Given the description of an element on the screen output the (x, y) to click on. 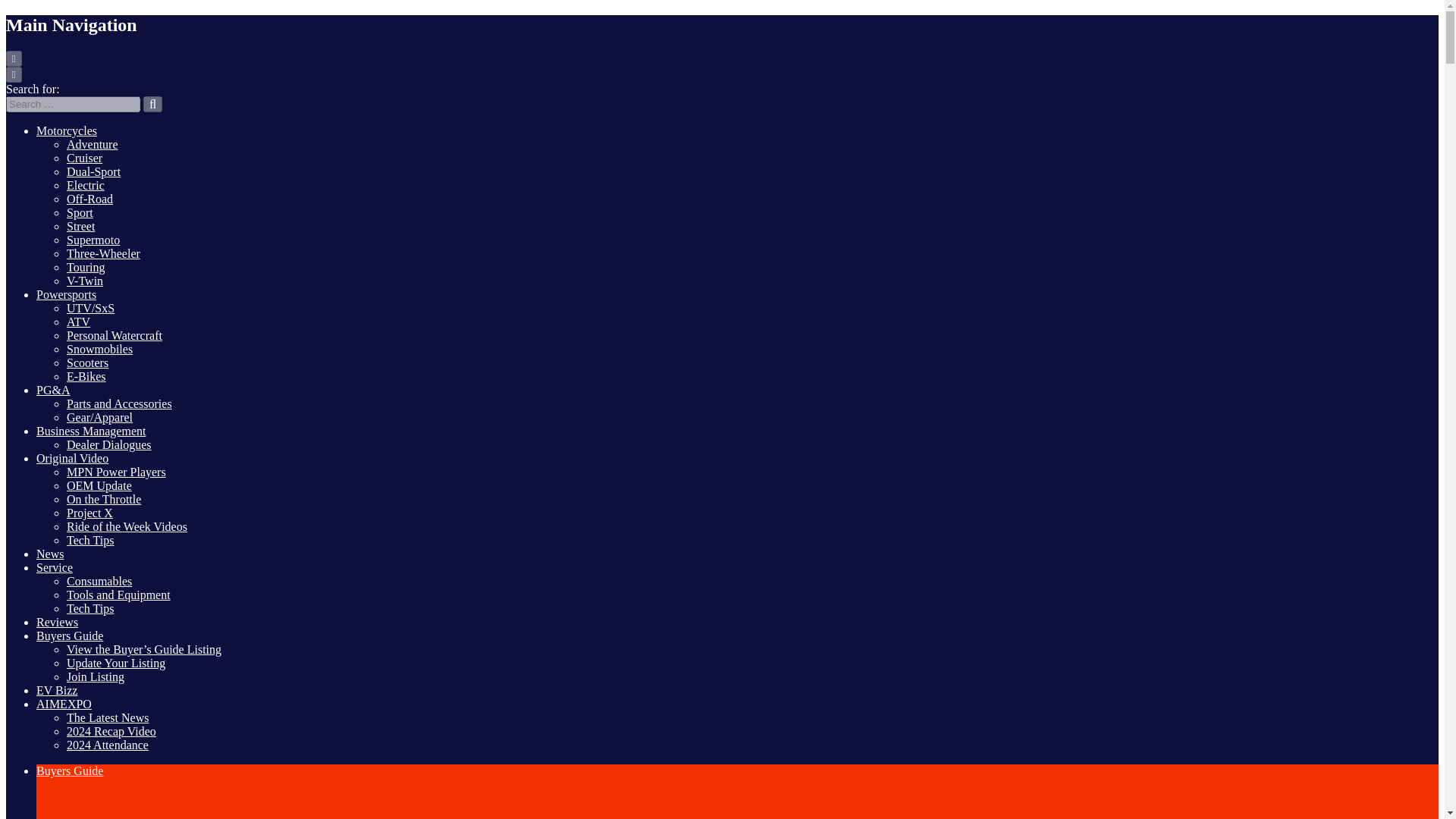
Off-Road (89, 198)
V-Twin (84, 280)
Motorcycles (66, 130)
Off-Road (89, 198)
Three-Wheeler (102, 253)
Scooters (86, 362)
Street (80, 226)
OEM Update (99, 485)
MPN Power Players (115, 472)
ATV (78, 321)
Powersports (66, 294)
Snowmobiles (99, 349)
Ride of the Week Videos (126, 526)
Dual-Sport (93, 171)
Dual-Sport (93, 171)
